Given the description of an element on the screen output the (x, y) to click on. 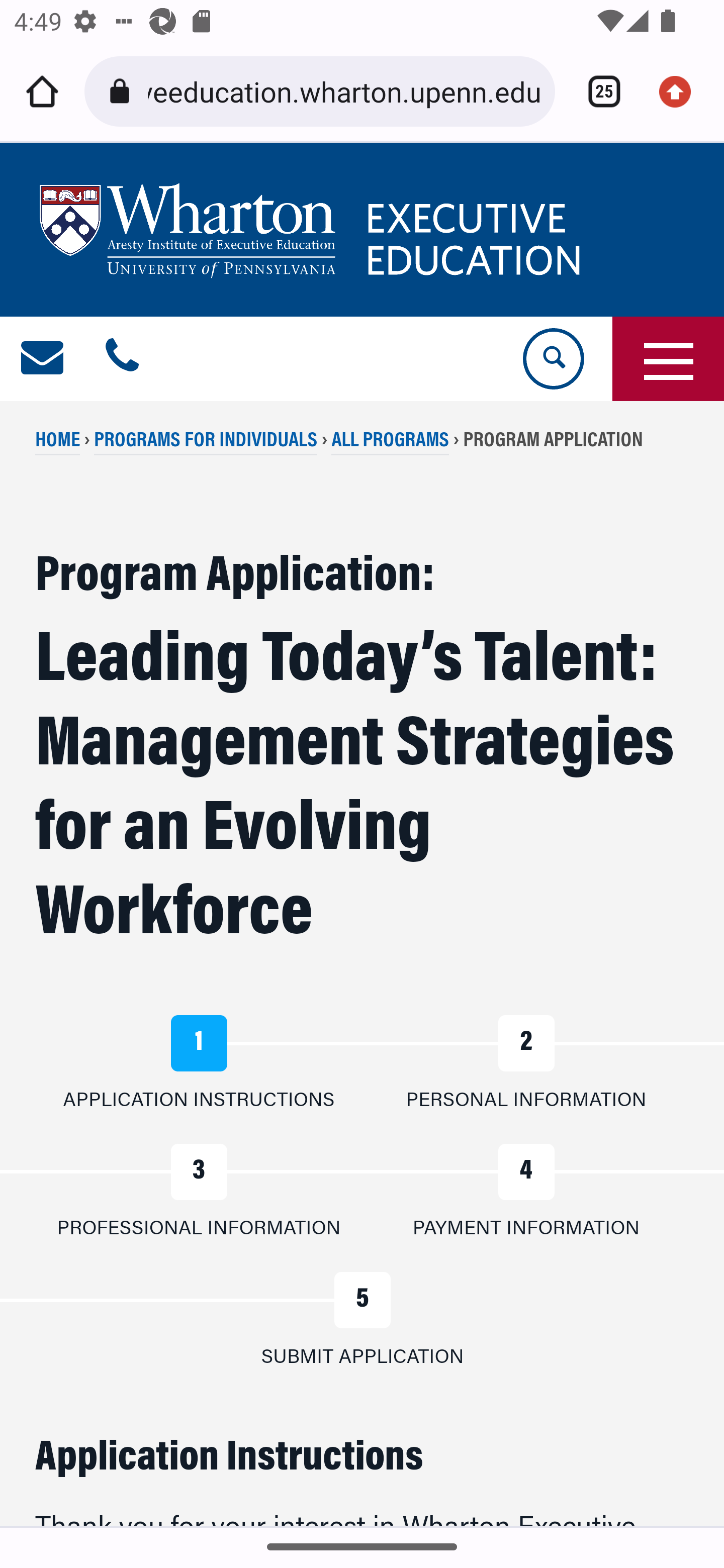
Home (42, 91)
Connection is secure (122, 91)
Switch or close tabs (597, 91)
Update available. More options (681, 91)
Wharton Executive Education (313, 230)
 (43, 358)
 (122, 358)
Mobile menu toggle (668, 358)
 Search Wharton  (552, 358)
HOME (58, 441)
PROGRAMS FOR INDIVIDUALS (205, 441)
ALL PROGRAMS (390, 441)
